Given the description of an element on the screen output the (x, y) to click on. 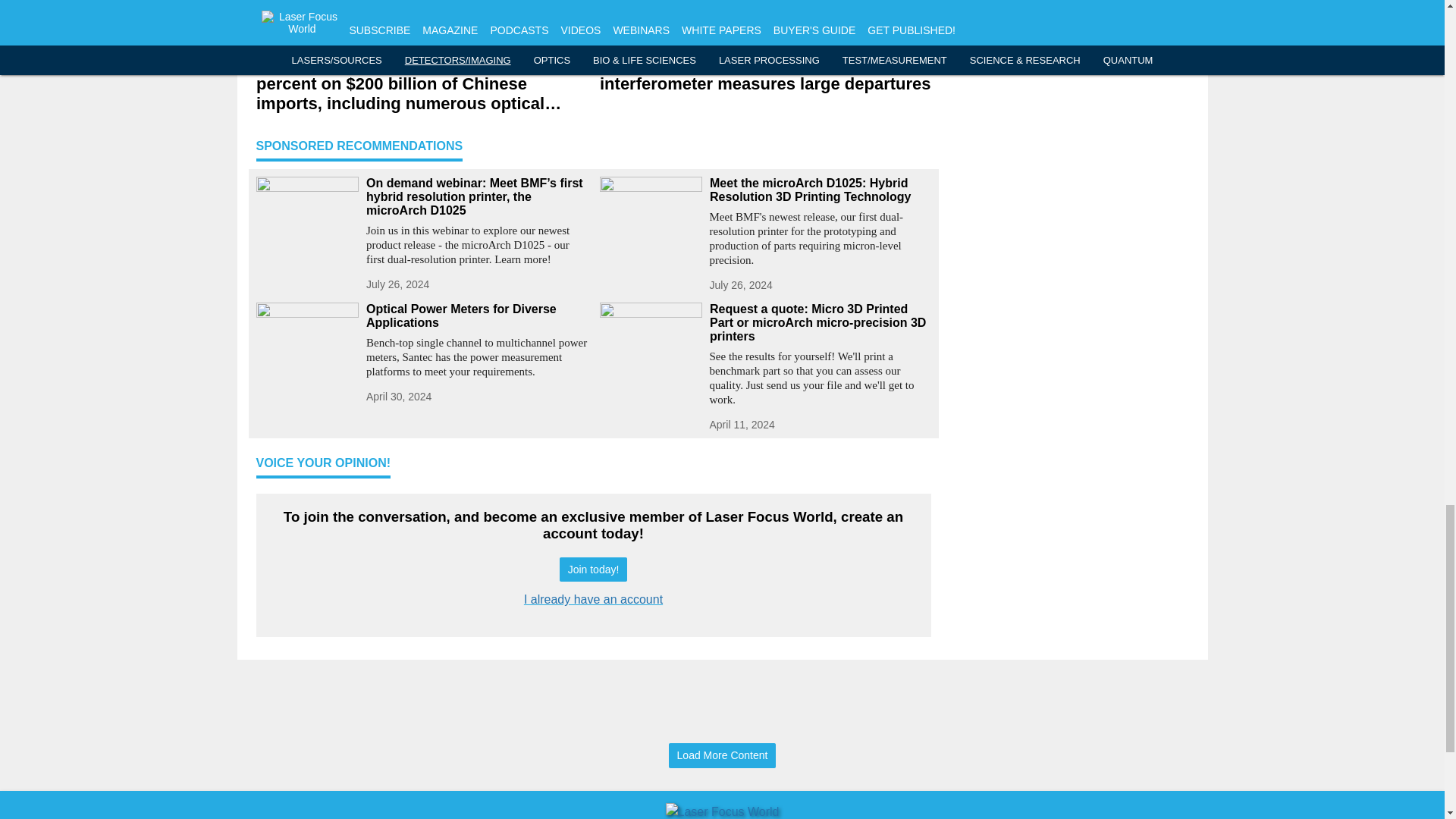
Optical Power Meters for Diverse Applications (476, 316)
